Given the description of an element on the screen output the (x, y) to click on. 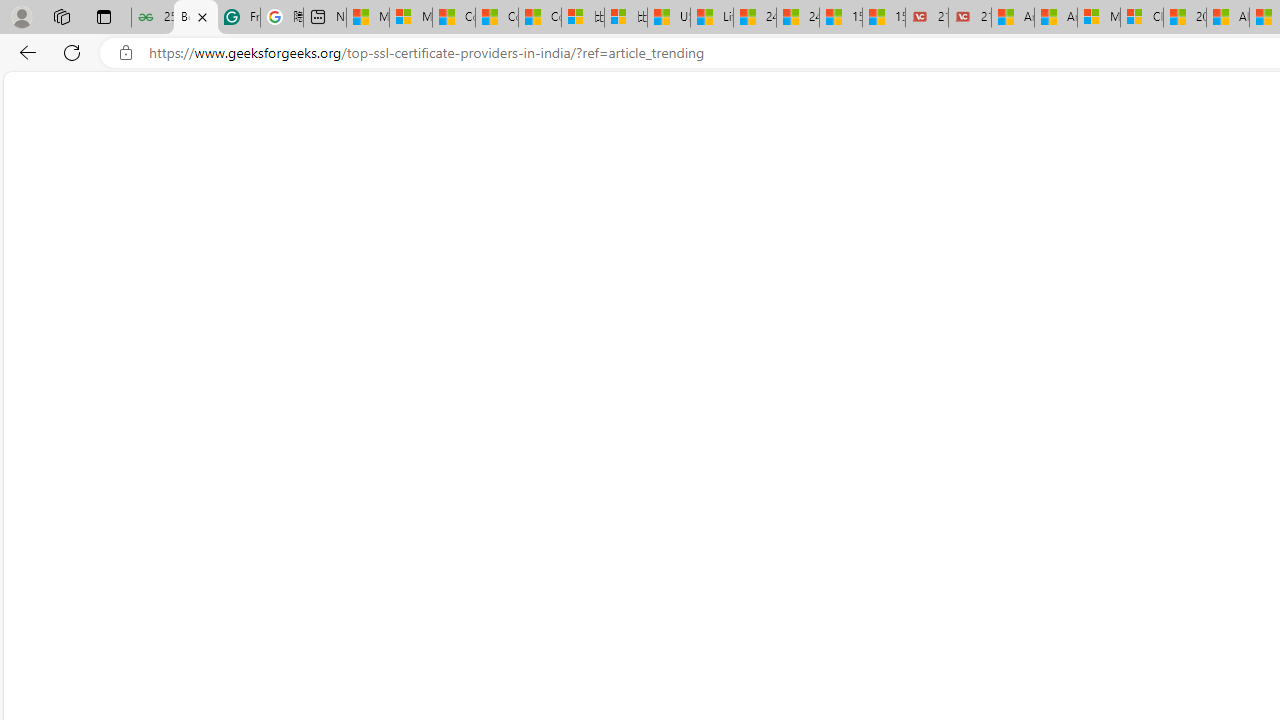
21 Movies That Outdid the Books They Were Based On (969, 17)
NEWS (151, 138)
NEWS (151, 142)
Website & Apps (387, 138)
Blogs (207, 142)
AI News (836, 142)
Tips & Tricks (281, 138)
Tech Blogs (564, 138)
